Given the description of an element on the screen output the (x, y) to click on. 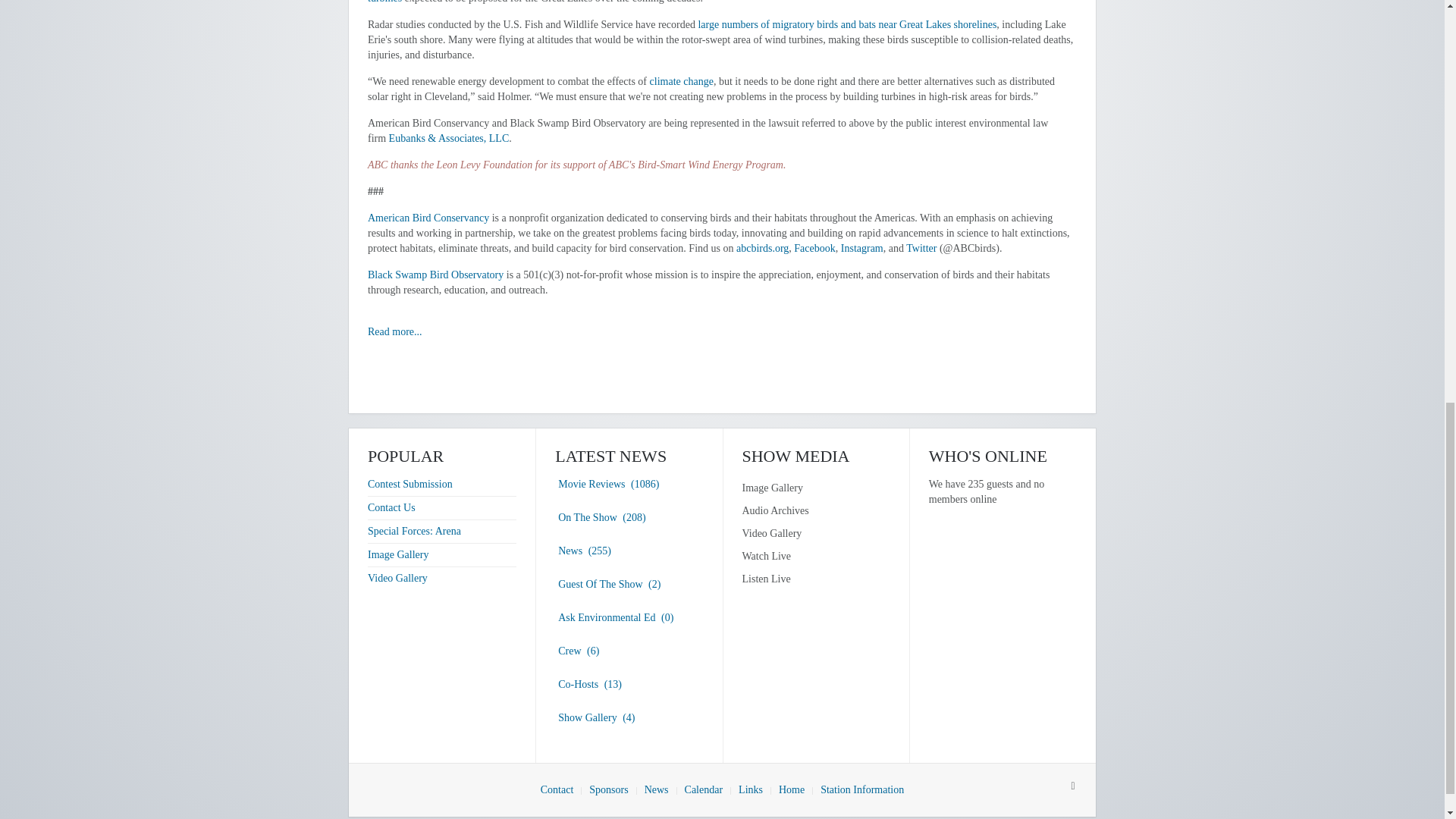
American Bird Conservancy (428, 217)
climate change (681, 81)
